Given the description of an element on the screen output the (x, y) to click on. 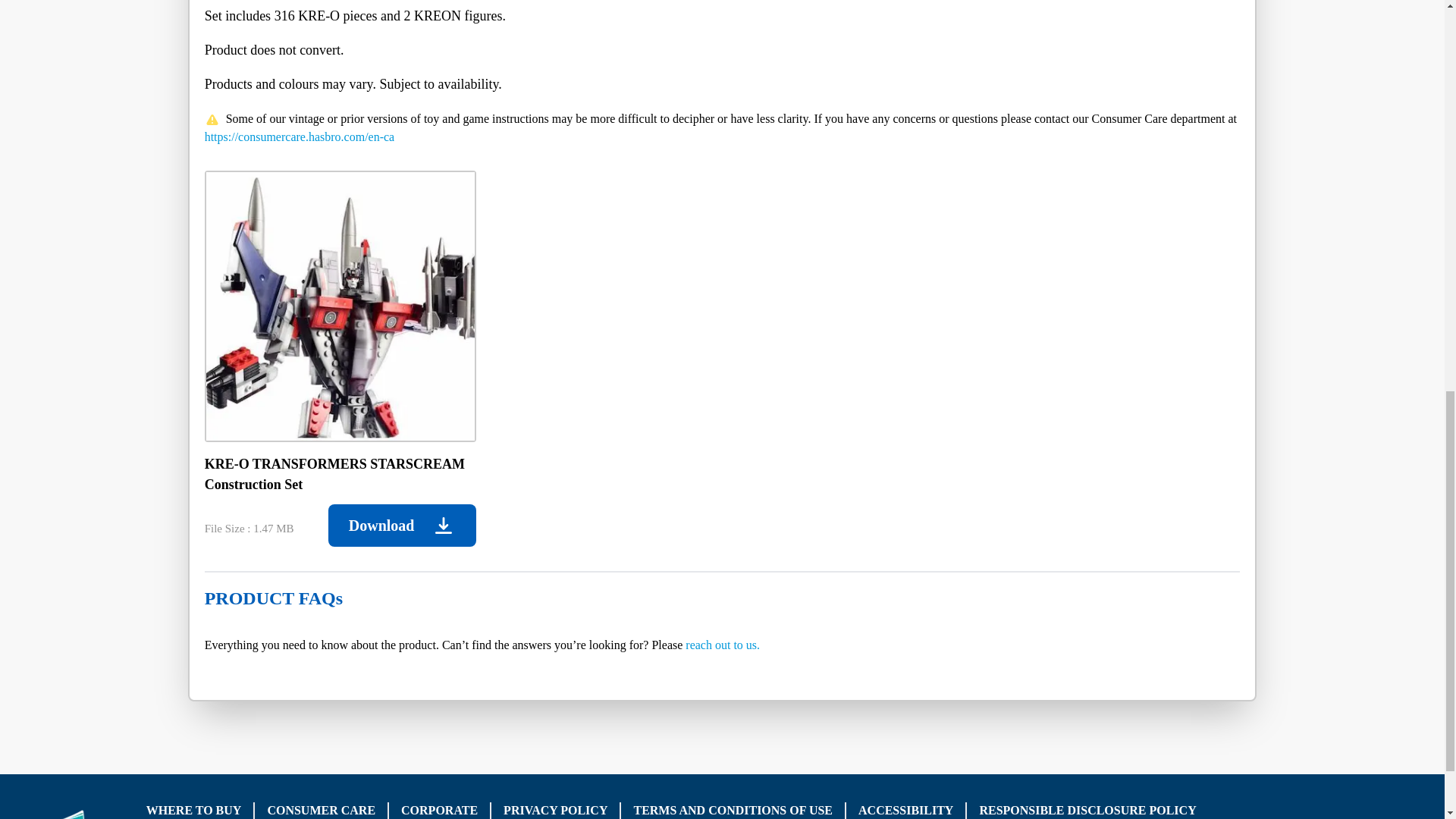
reach out to us. (722, 644)
CORPORATE (439, 809)
RESPONSIBLE DISCLOSURE POLICY (1086, 809)
WHERE TO BUY (194, 809)
CONSUMER CARE (320, 809)
PRIVACY POLICY (555, 809)
Download (402, 525)
ACCESSIBILITY (906, 809)
TERMS AND CONDITIONS OF USE (732, 809)
